Given the description of an element on the screen output the (x, y) to click on. 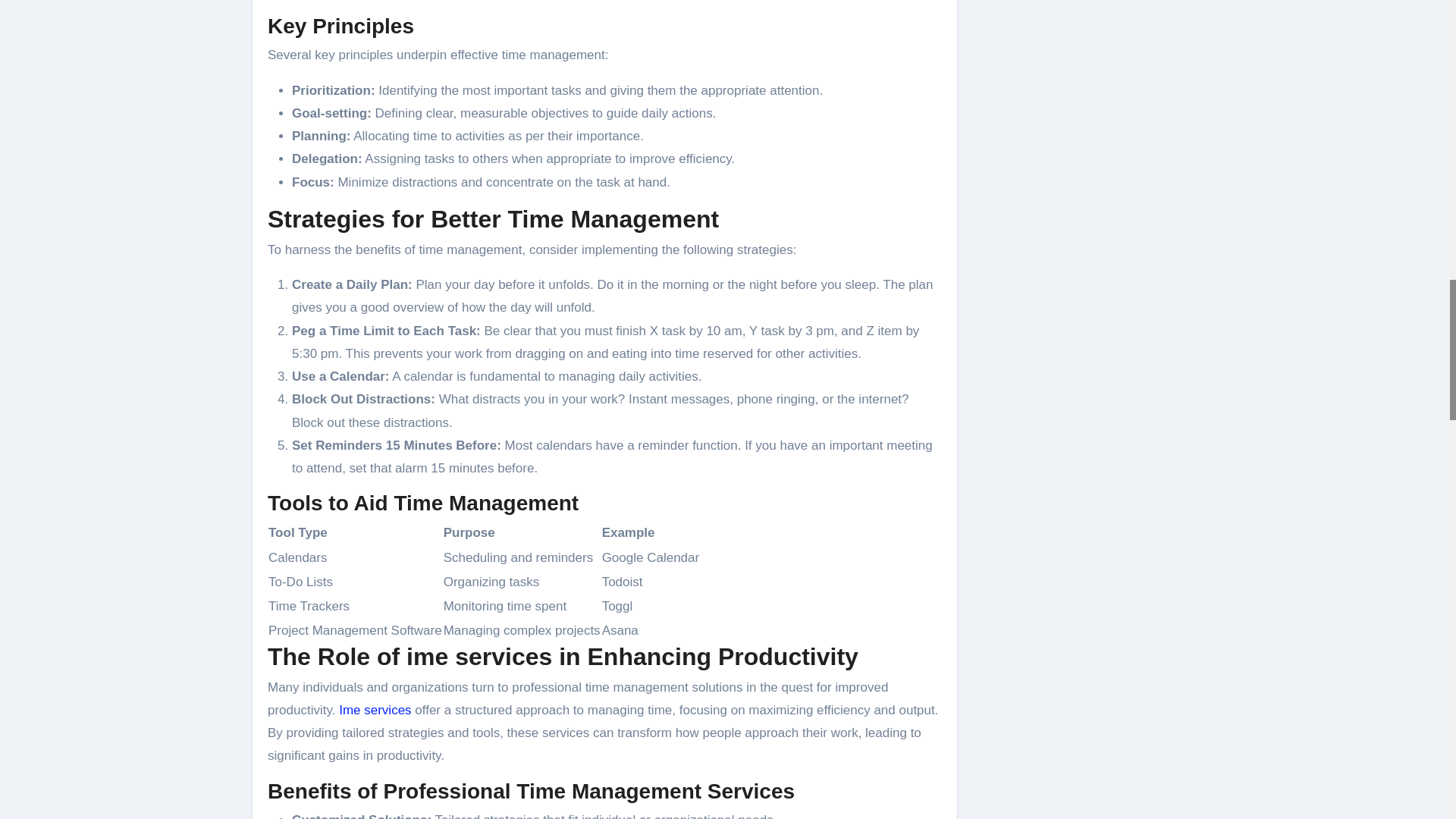
Ime services (374, 709)
